Given the description of an element on the screen output the (x, y) to click on. 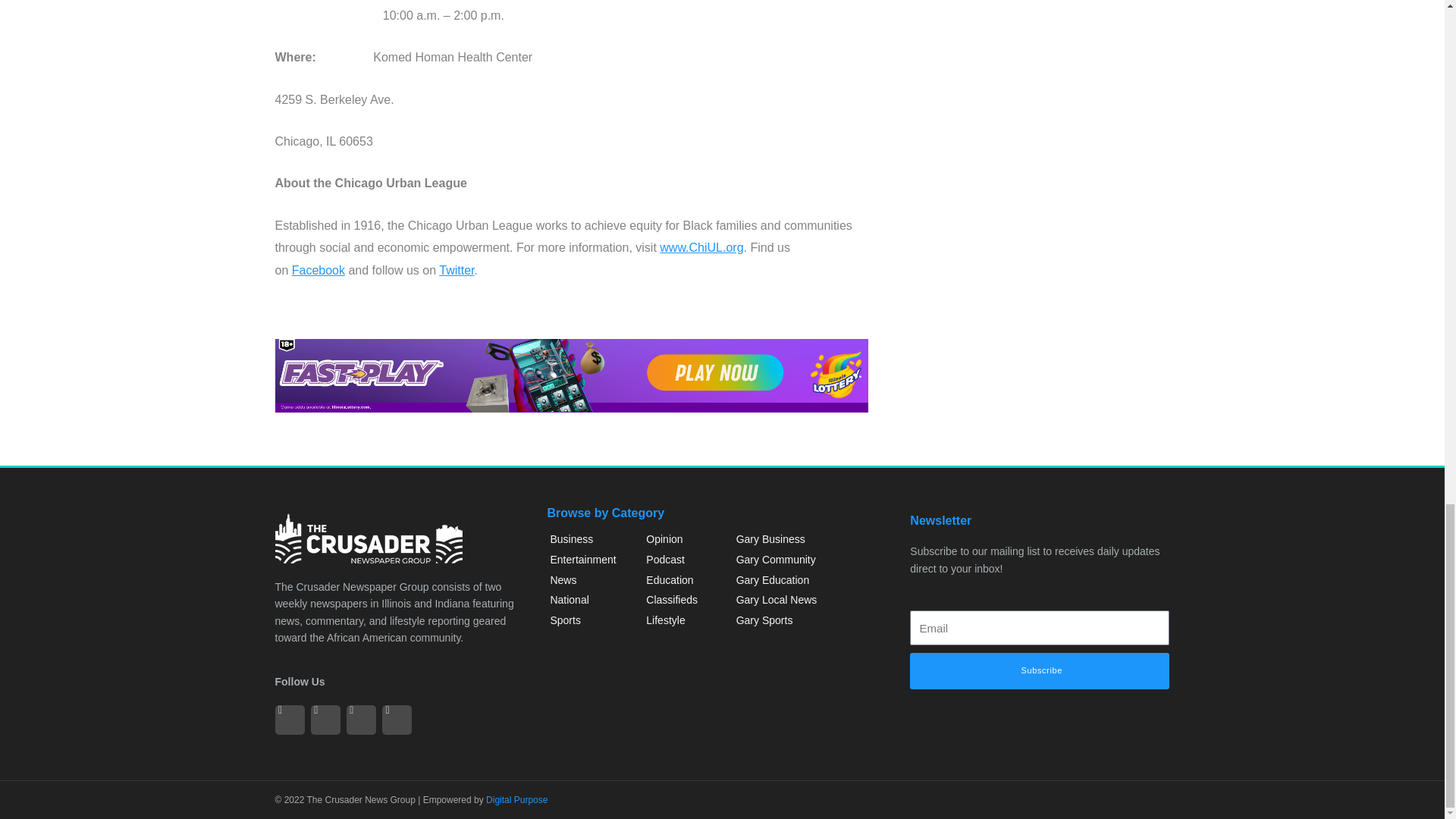
Fast Play-Lottery-Footer-July 2024 (571, 375)
